Given the description of an element on the screen output the (x, y) to click on. 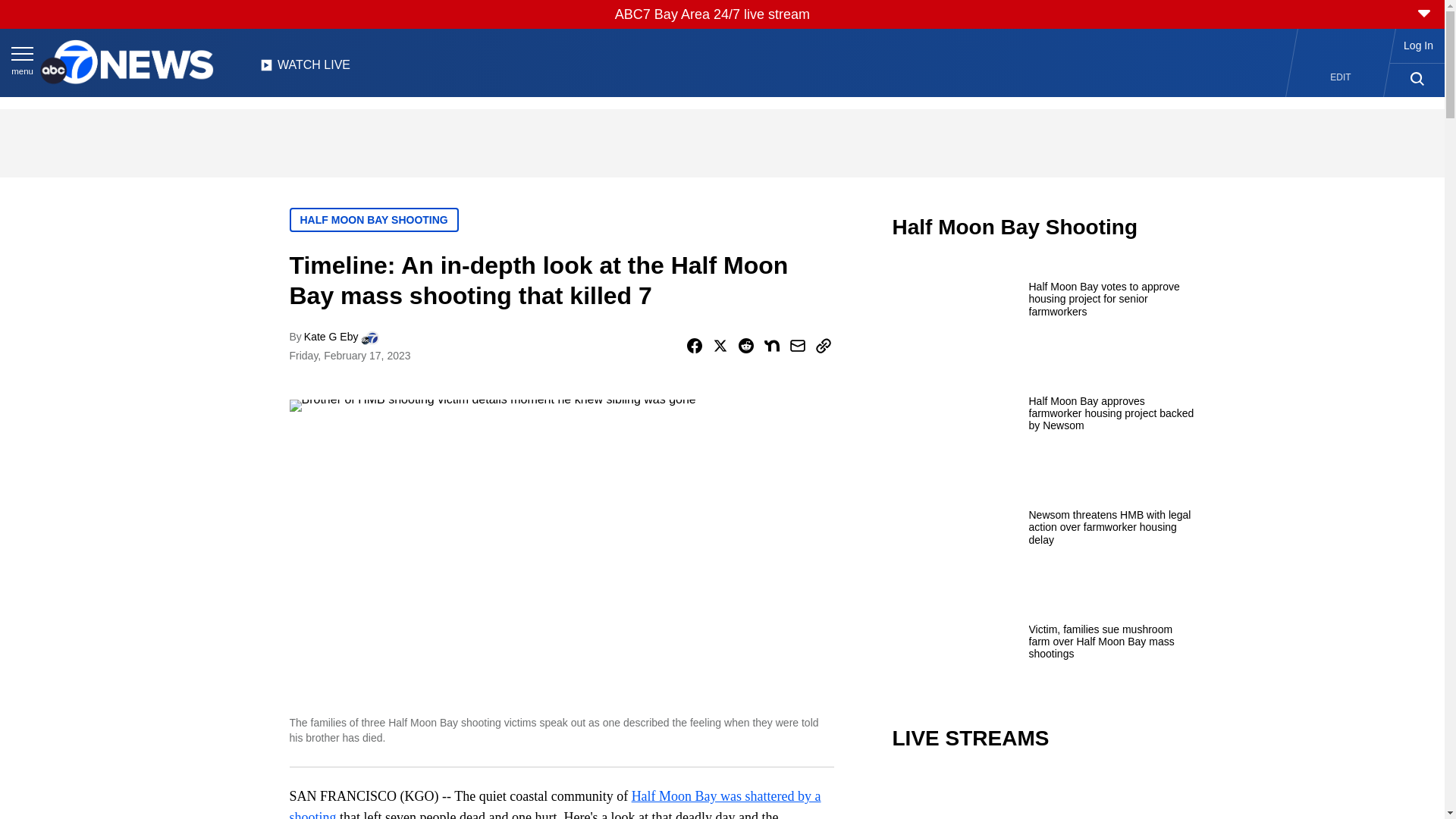
WATCH LIVE (305, 69)
video.title (1043, 796)
EDIT (1340, 77)
